Given the description of an element on the screen output the (x, y) to click on. 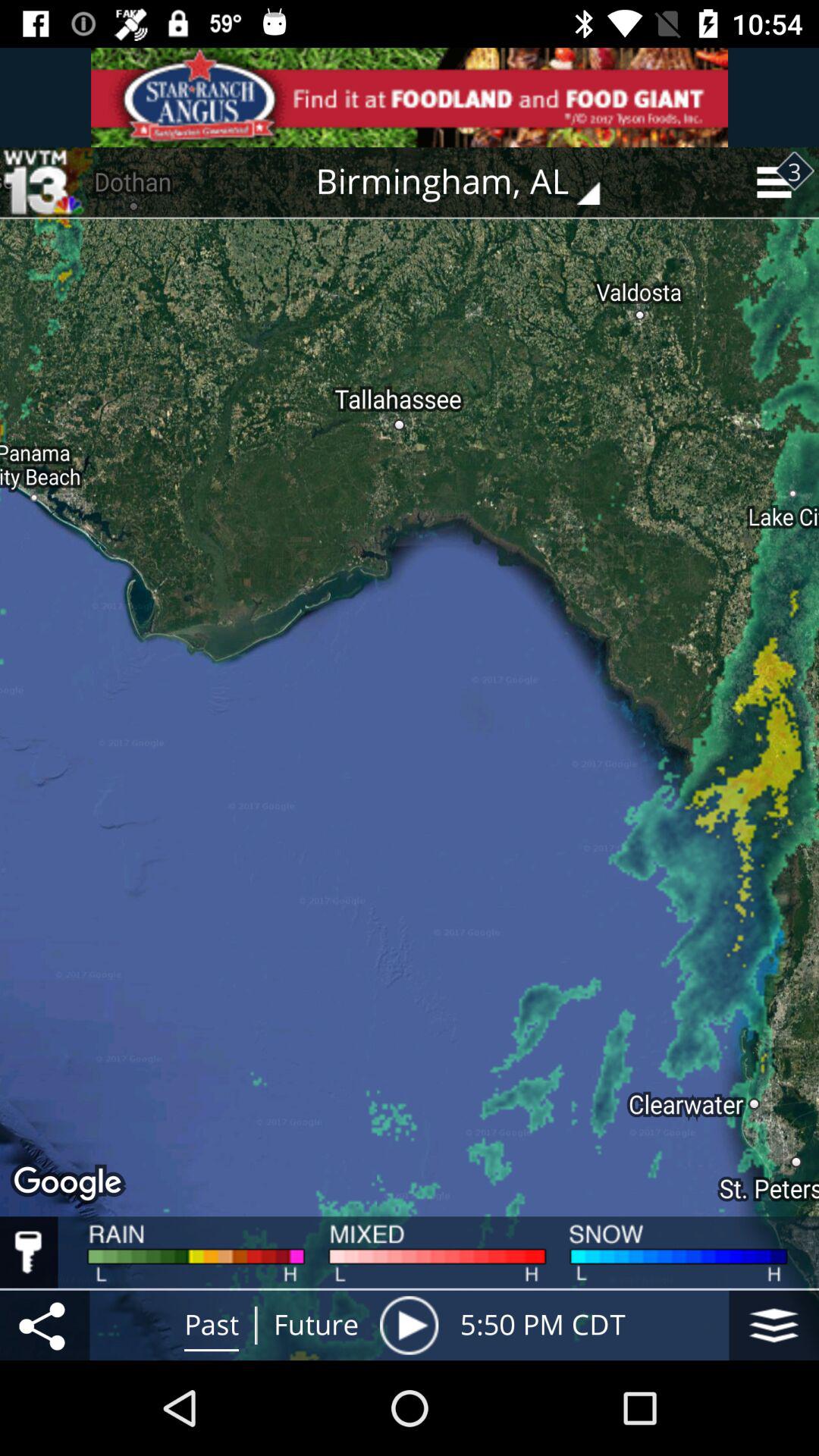
play weather video (409, 1325)
